Given the description of an element on the screen output the (x, y) to click on. 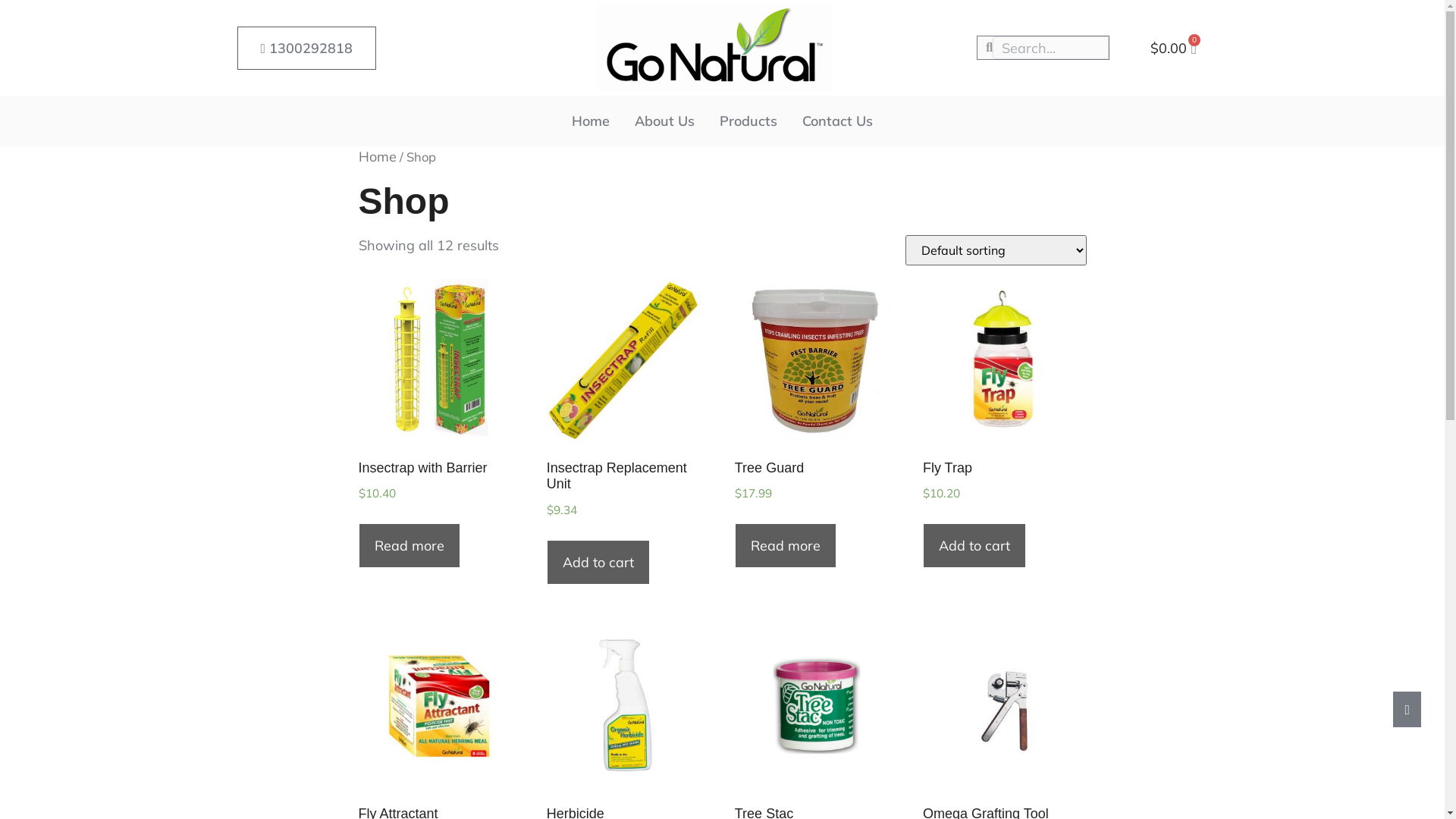
Contact Us Element type: text (837, 120)
1300292818 Element type: text (306, 47)
Read more Element type: text (785, 545)
Insectrap Replacement Unit
$9.34 Element type: text (626, 425)
Read more Element type: text (408, 545)
Products Element type: text (748, 120)
$0.00 Element type: text (1173, 47)
Add to cart Element type: text (974, 545)
About Us Element type: text (664, 120)
Add to cart Element type: text (597, 561)
Tree Guard
$17.99 Element type: text (814, 416)
Search Element type: hover (1050, 47)
Insectrap with Barrier
$10.40 Element type: text (437, 416)
Home Element type: text (376, 156)
Fly Trap
$10.20 Element type: text (1002, 416)
Home Element type: text (590, 120)
